Given the description of an element on the screen output the (x, y) to click on. 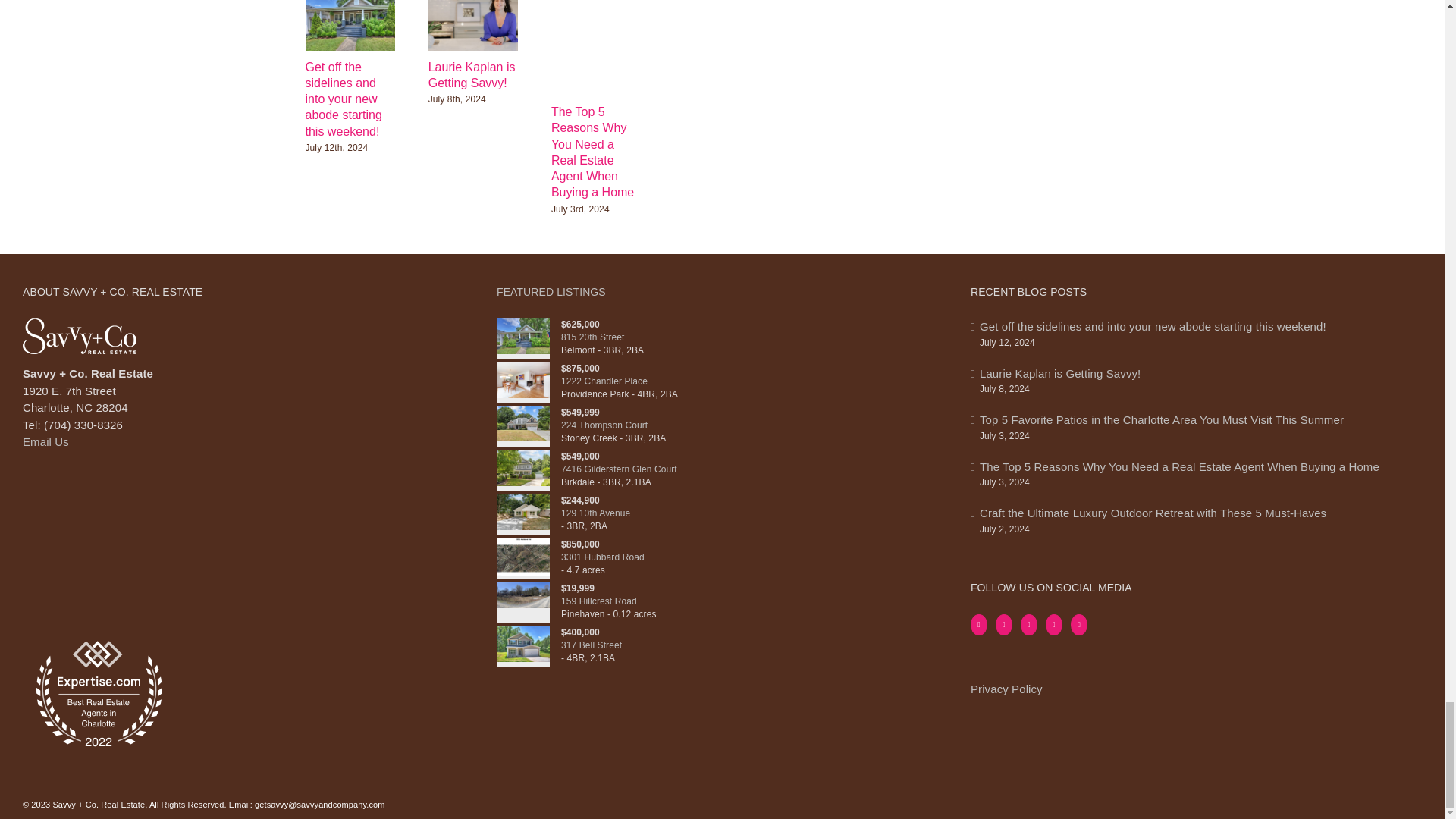
Laurie Kaplan is Getting Savvy! (471, 73)
